Given the description of an element on the screen output the (x, y) to click on. 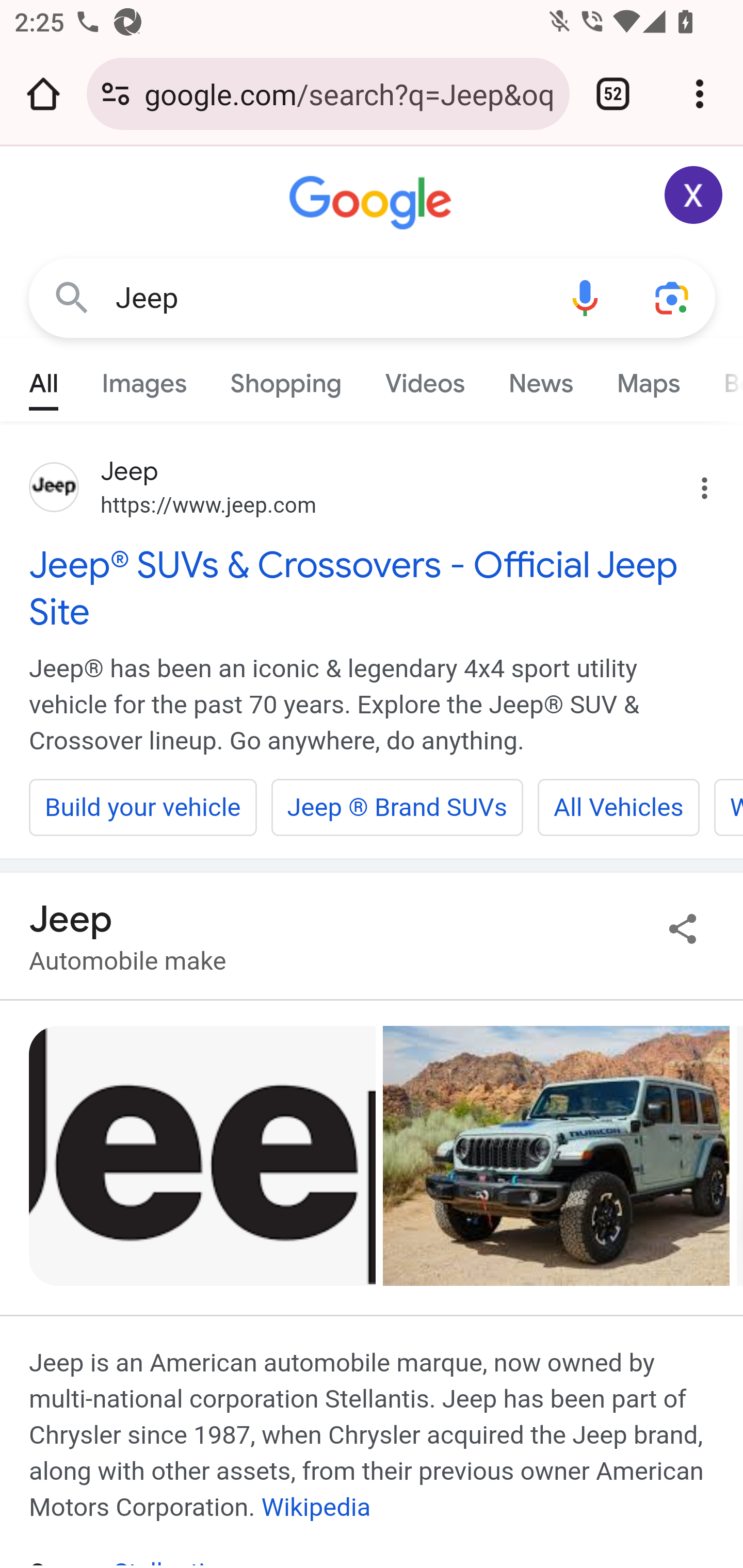
Open the home page (43, 93)
Connection is secure (115, 93)
Switch or close tabs (612, 93)
Customize and control Google Chrome (699, 93)
Google (372, 203)
Google Account: Xiaoran (zxrappiumtest@gmail.com) (694, 195)
Google Search (71, 296)
Search using your camera or photos (672, 296)
Jeep (328, 297)
Images (144, 378)
Shopping (285, 378)
Videos (424, 378)
News (540, 378)
Maps (647, 378)
Jeep® SUVs & Crossovers - Official Jeep Site (372, 587)
Build your vehicle (142, 807)
Jeep ® Brand SUVs (397, 807)
All Vehicles (618, 807)
Share (683, 928)
Wikipedia (316, 1507)
